Given the description of an element on the screen output the (x, y) to click on. 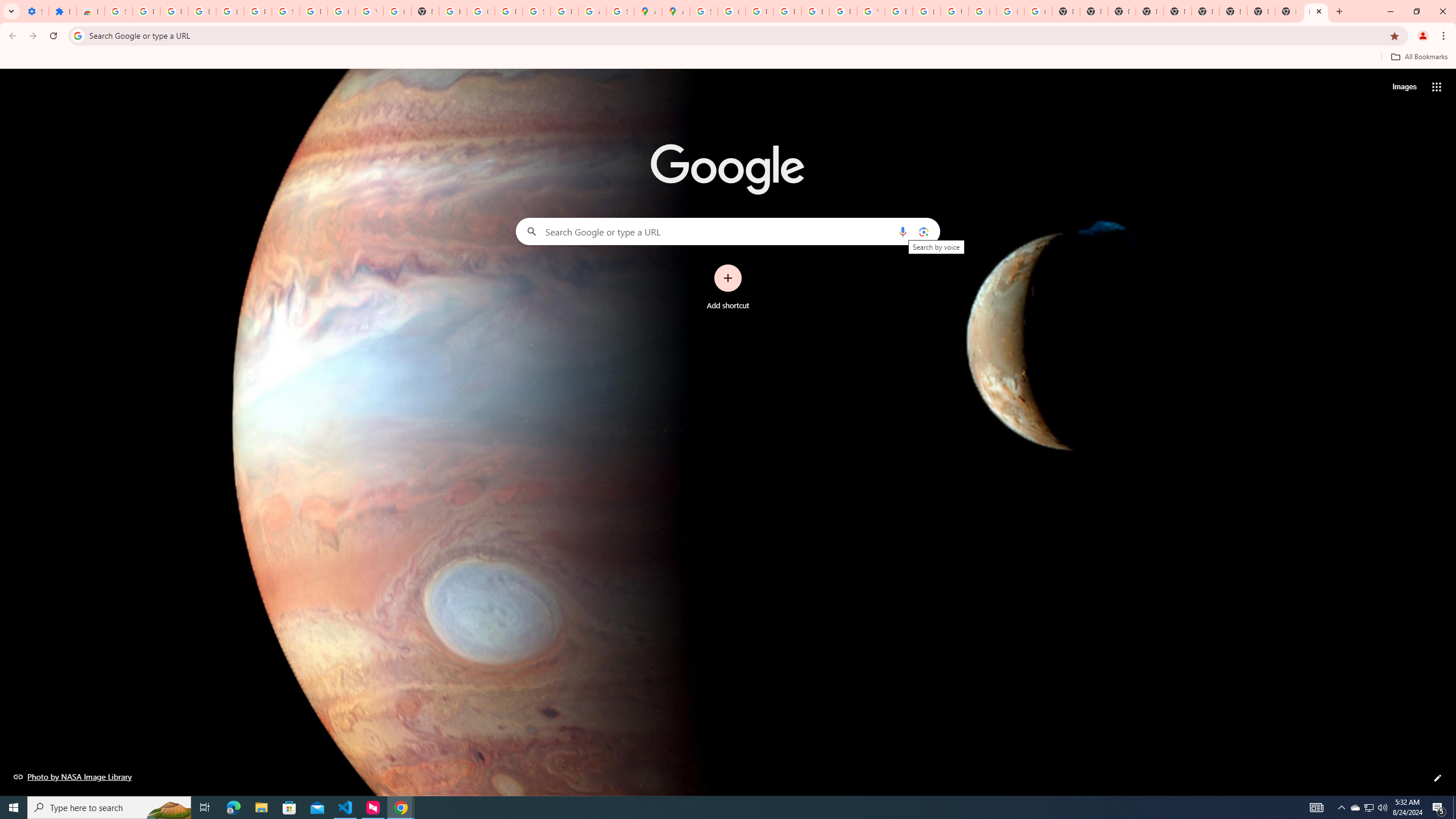
YouTube (870, 11)
Settings - On startup (34, 11)
Privacy Help Center - Policies Help (759, 11)
Safety in Our Products - Google Safety Center (620, 11)
